Given the description of an element on the screen output the (x, y) to click on. 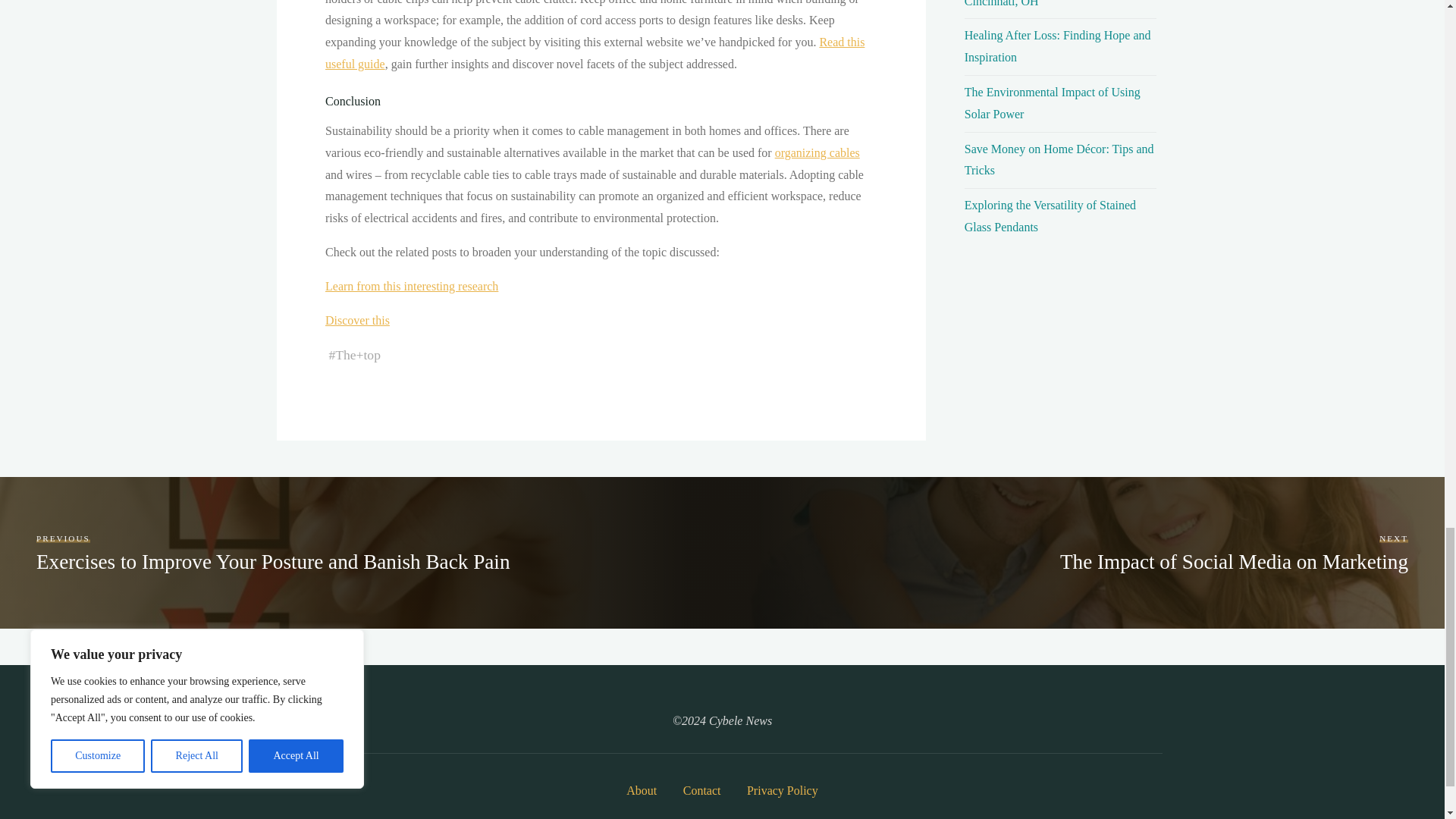
organizing cables (816, 152)
Read this useful guide (593, 53)
Learn from this interesting research (410, 286)
Discover this (356, 319)
